Given the description of an element on the screen output the (x, y) to click on. 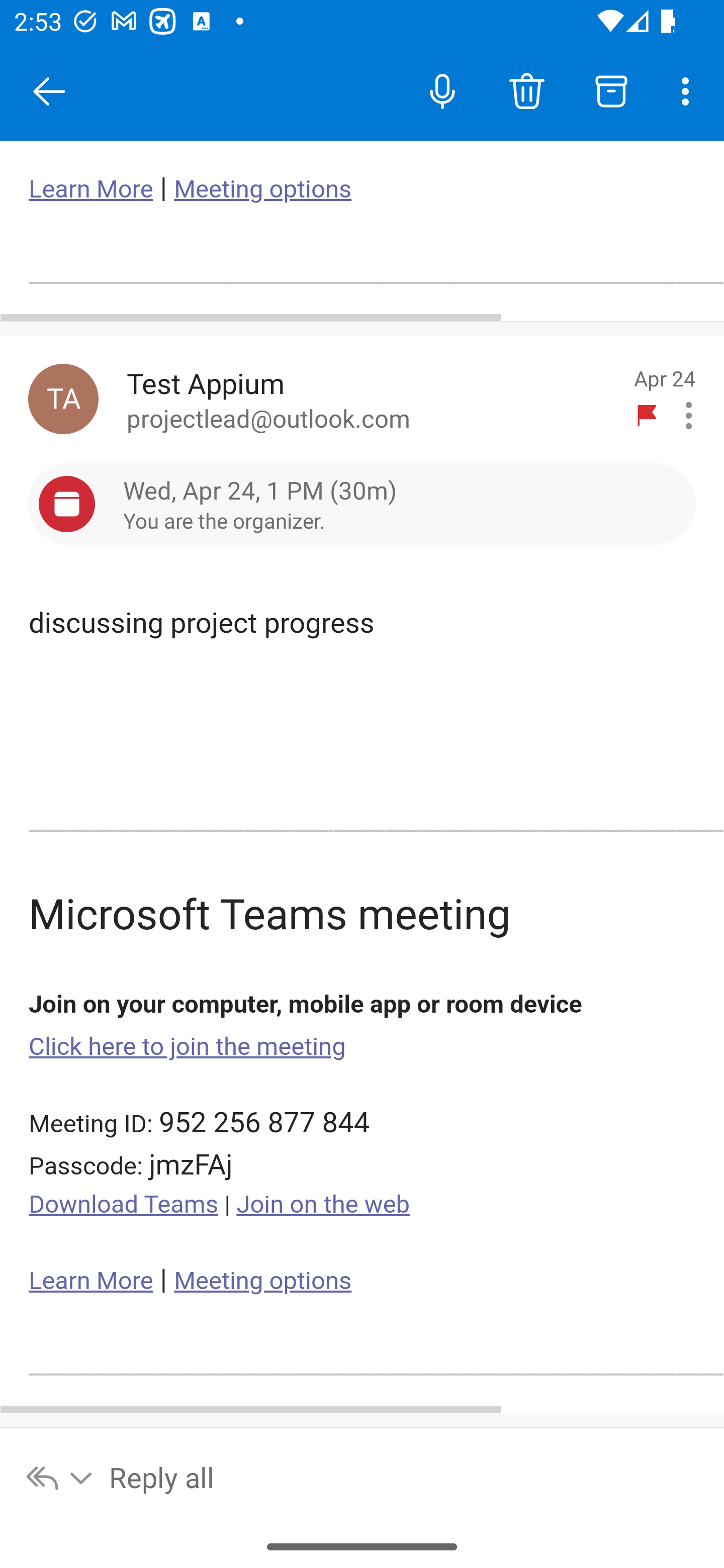
Close (49, 91)
Delete (526, 90)
Archive (611, 90)
More options (688, 90)
Learn More (90, 189)
Meeting options (262, 189)
Test Appium, testappium002@outlook.com (63, 398)
Test Appium
to projectlead@outlook.com (372, 398)
Message actions (688, 416)
Click here to join the meeting (187, 1046)
Download Teams (124, 1204)
Join on the web (323, 1204)
Learn More (90, 1280)
Meeting options (262, 1280)
Reply options (59, 1476)
